Given the description of an element on the screen output the (x, y) to click on. 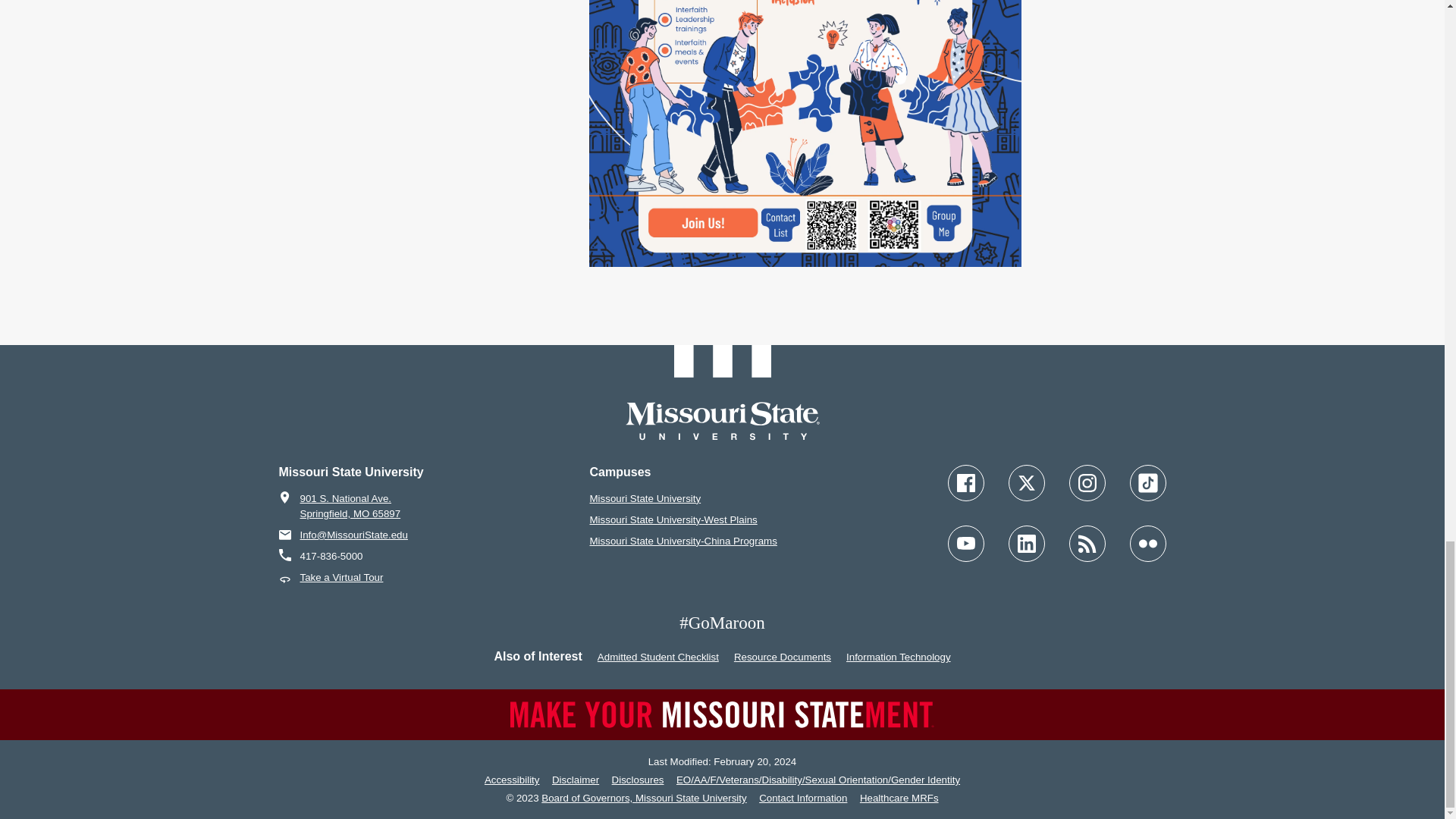
Follow Missouri State on Flickr (1147, 543)
Follow Missouri State on YouTube (965, 543)
Follow Missouri State on Facebook (965, 483)
Follow Missouri State on LinkedIn (1027, 543)
Follow Missouri State on Instagram (1086, 483)
Follow Missouri State on TikTok (1147, 483)
Follow Missouri State Blogs (1086, 543)
Follow Missouri State on X (1027, 483)
